Given the description of an element on the screen output the (x, y) to click on. 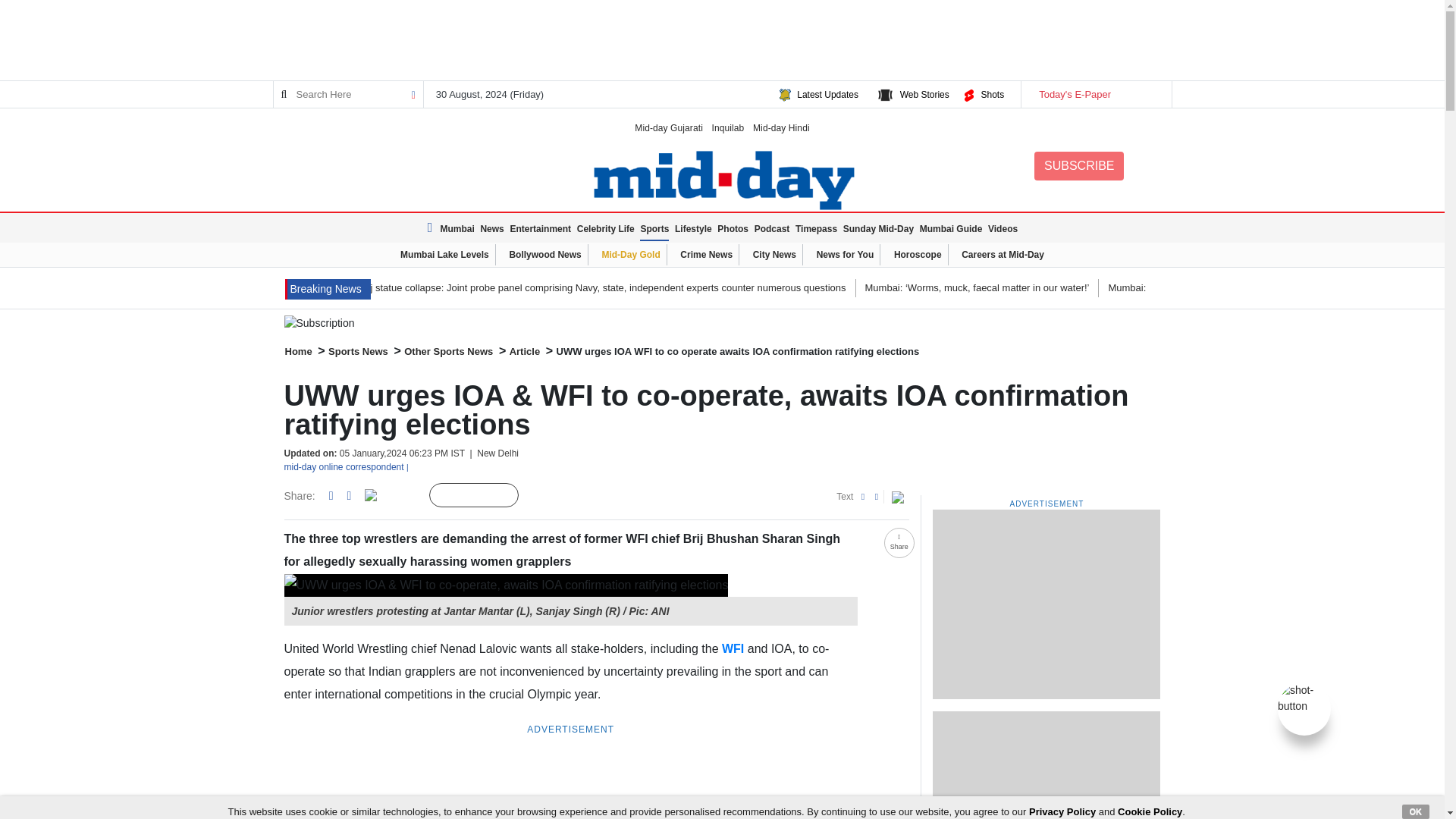
Midday Shot Videos (1304, 697)
Latest News (432, 227)
Latest Updates (827, 94)
Subscription (721, 323)
SUBSCRIBE (1078, 165)
Inquilab (728, 127)
Shots (991, 94)
Today's E-Paper (1095, 94)
Mid-day Hindi (780, 127)
Quick Reads (543, 495)
